Given the description of an element on the screen output the (x, y) to click on. 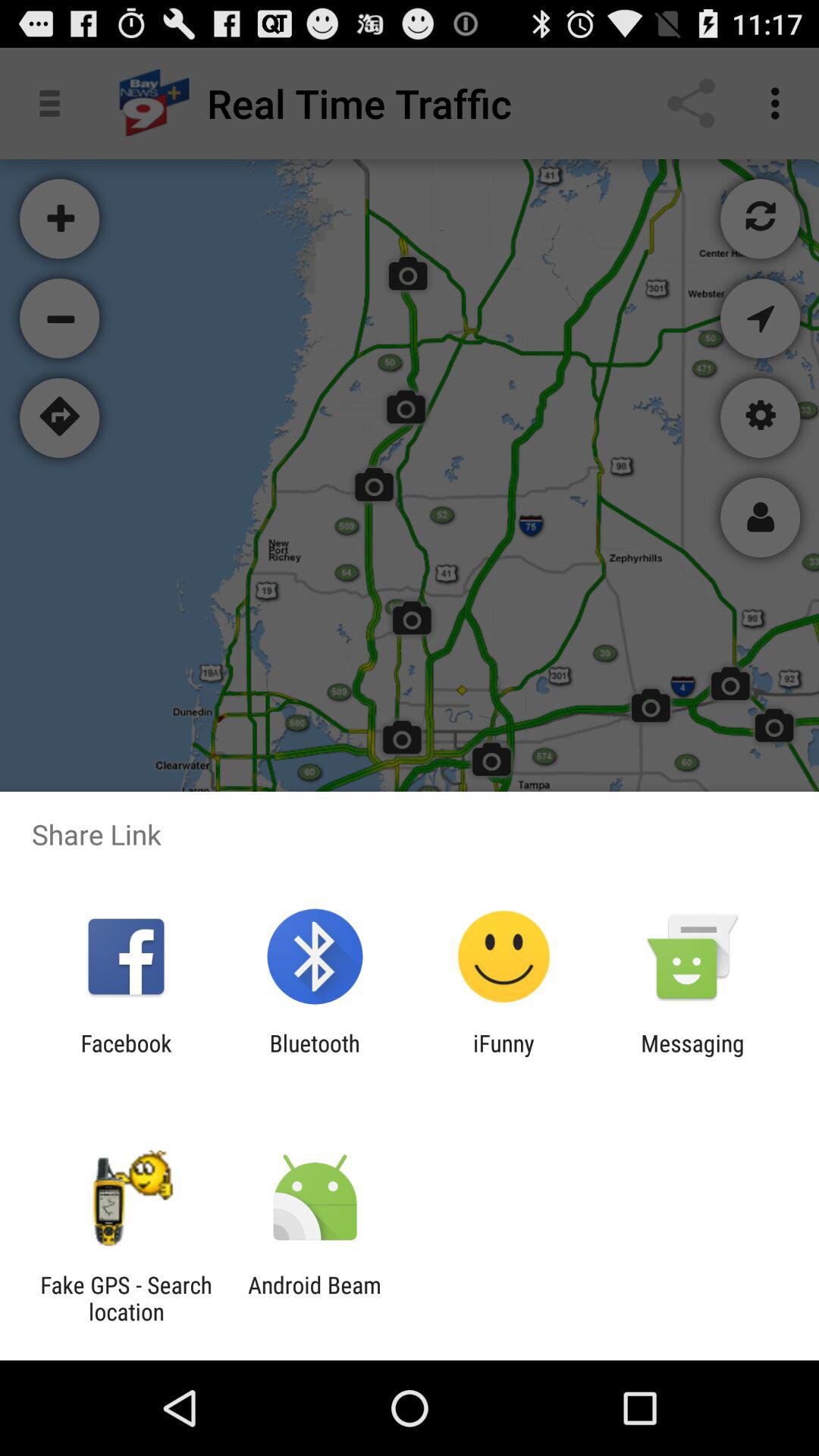
select icon at the bottom right corner (692, 1056)
